Given the description of an element on the screen output the (x, y) to click on. 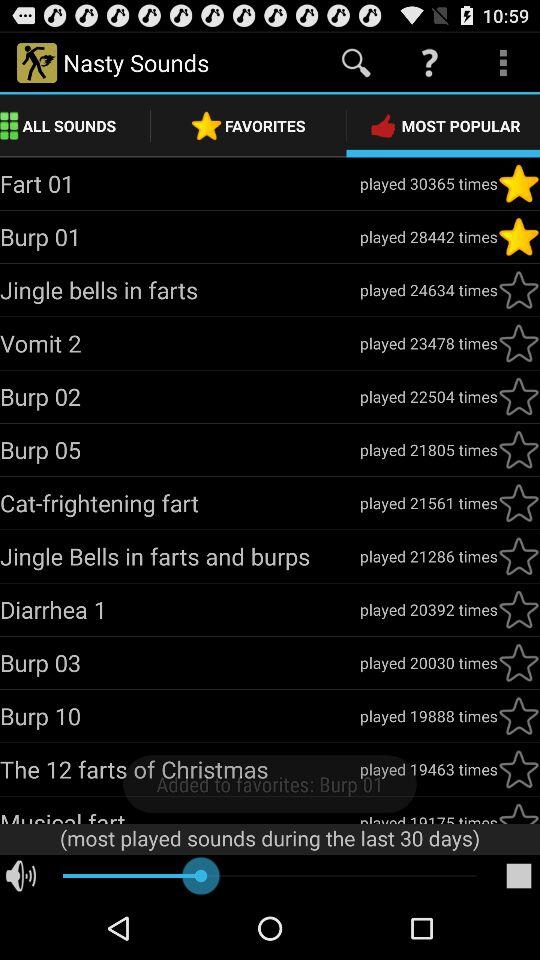
remove from favorite (519, 237)
